Given the description of an element on the screen output the (x, y) to click on. 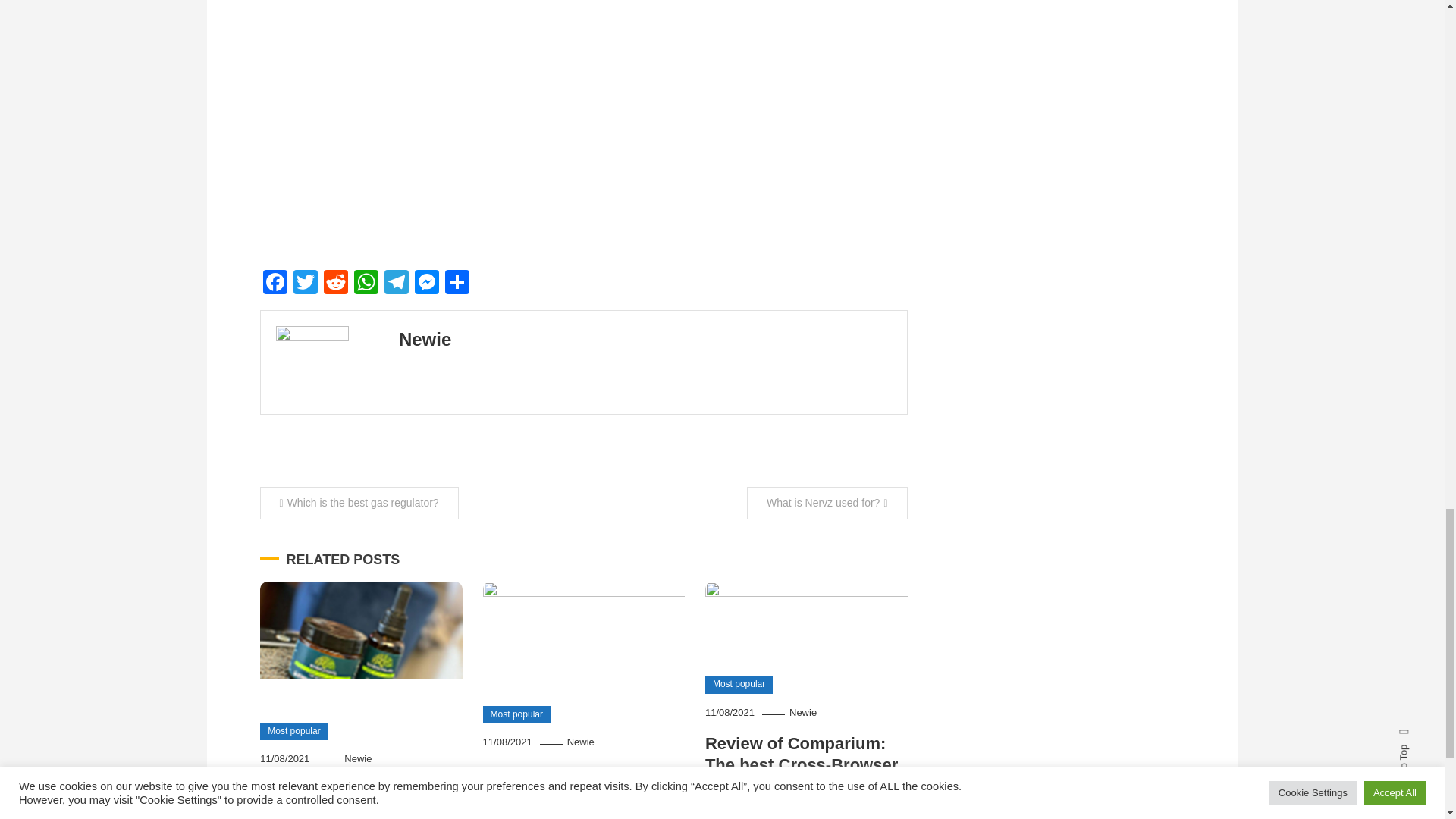
WhatsApp (365, 284)
Successfully Parenting A Child With Special Needs (582, 784)
Telegram (395, 284)
Newie (357, 758)
Telegram (395, 284)
Facebook (274, 284)
Twitter (304, 284)
Facebook (274, 284)
Reddit (335, 284)
Most popular (516, 714)
